Given the description of an element on the screen output the (x, y) to click on. 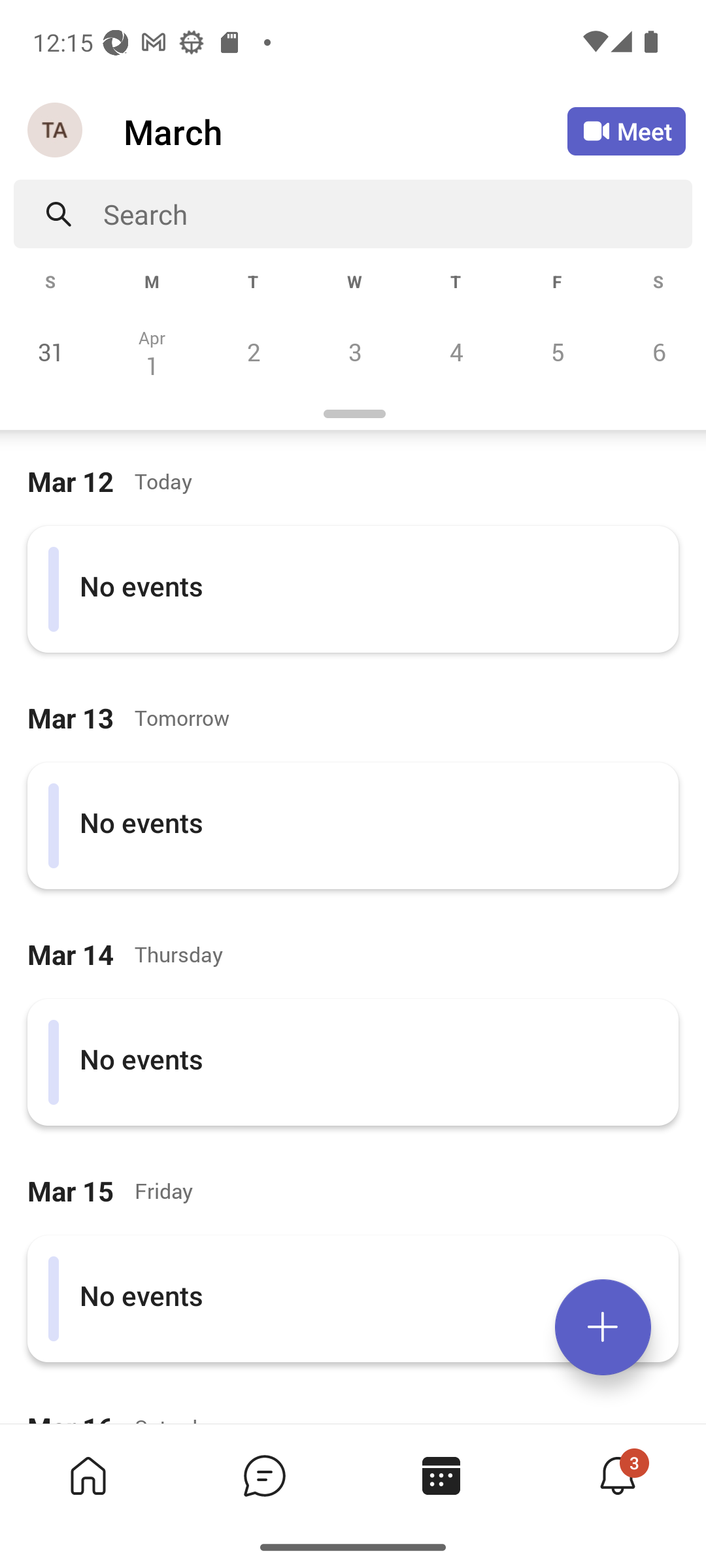
Navigation (56, 130)
Meet Meet now or join with an ID (626, 130)
March March Calendar Agenda View (345, 131)
Search (397, 213)
Sunday, March 31 31 (50, 351)
Monday, April 1 Apr 1 (151, 351)
Tuesday, April 2 2 (253, 351)
Wednesday, April 3 3 (354, 351)
Thursday, April 4 4 (455, 351)
Friday, April 5 5 (556, 351)
Saturday, April 6 6 (656, 351)
Expand meetings menu (602, 1327)
Home tab,1 of 4, not selected (88, 1475)
Chat tab,2 of 4, not selected (264, 1475)
Calendar tab, 3 of 4 (441, 1475)
Activity tab,4 of 4, not selected, 3 new 3 (617, 1475)
